Given the description of an element on the screen output the (x, y) to click on. 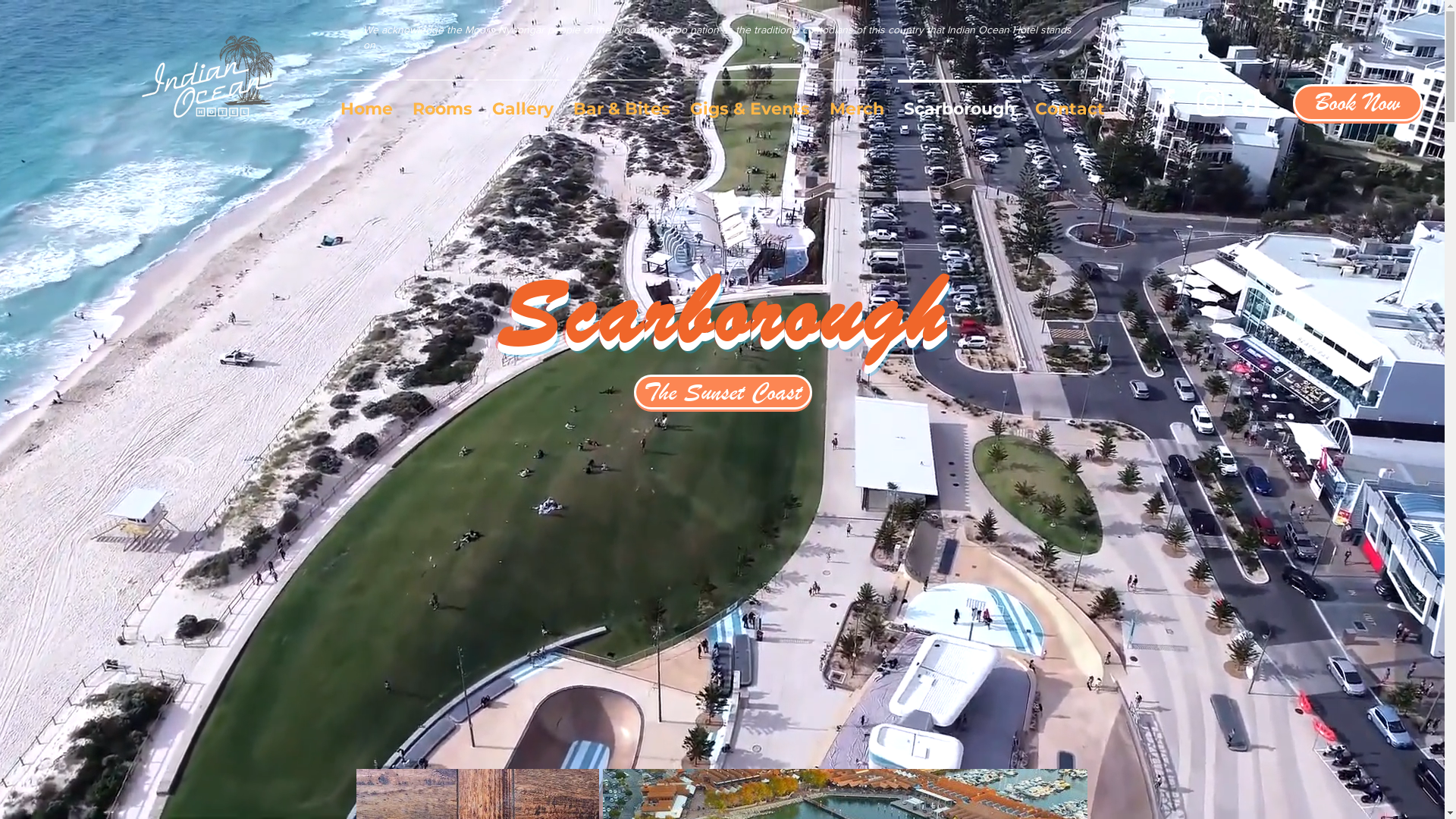
Untitled design (6).png Element type: hover (197, 78)
Scarborough Element type: text (959, 102)
Book Now Element type: text (1356, 102)
Contact Element type: text (1069, 102)
Rooms Element type: text (442, 102)
Bar & Bites Element type: text (621, 102)
Merch Element type: text (856, 102)
The Sunset Coast Element type: text (722, 391)
Home Element type: text (366, 102)
Gigs & Events Element type: text (749, 102)
Gallery Element type: text (522, 102)
